Given the description of an element on the screen output the (x, y) to click on. 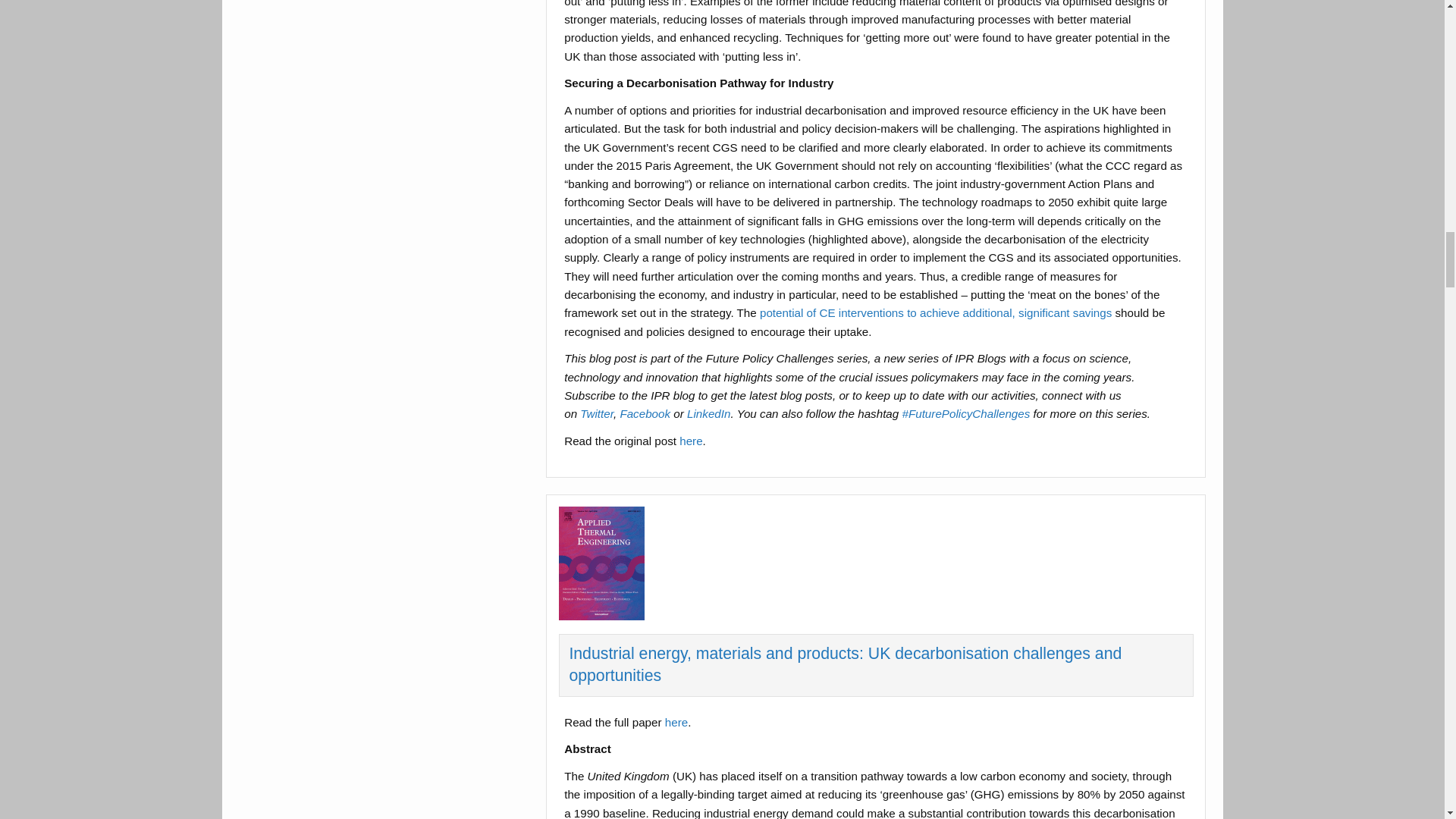
Twitter (595, 413)
Facebook (644, 413)
